Given the description of an element on the screen output the (x, y) to click on. 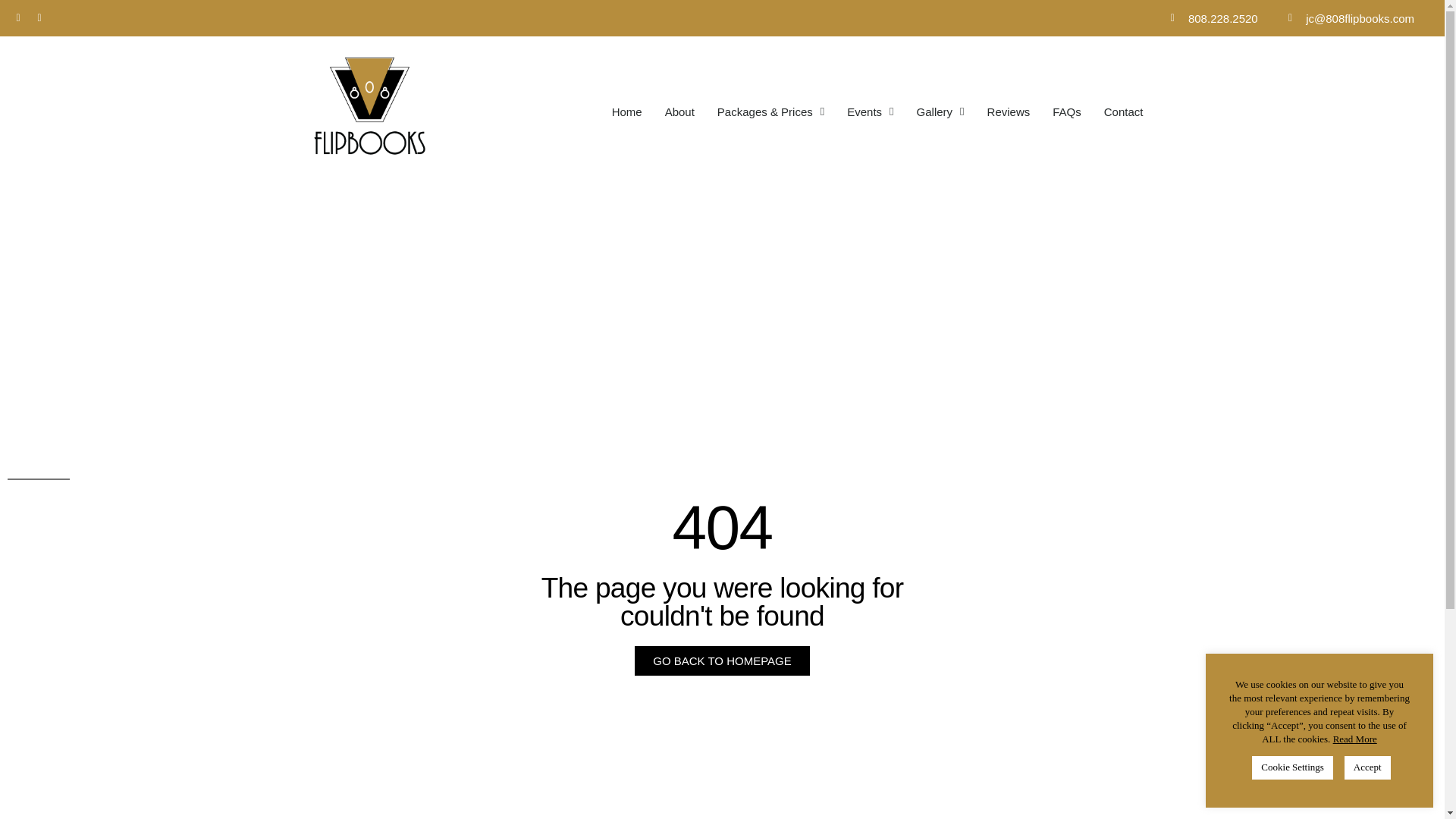
Home (626, 112)
About (679, 112)
808.228.2520 (1208, 17)
Events (869, 112)
Gallery (940, 112)
